Given the description of an element on the screen output the (x, y) to click on. 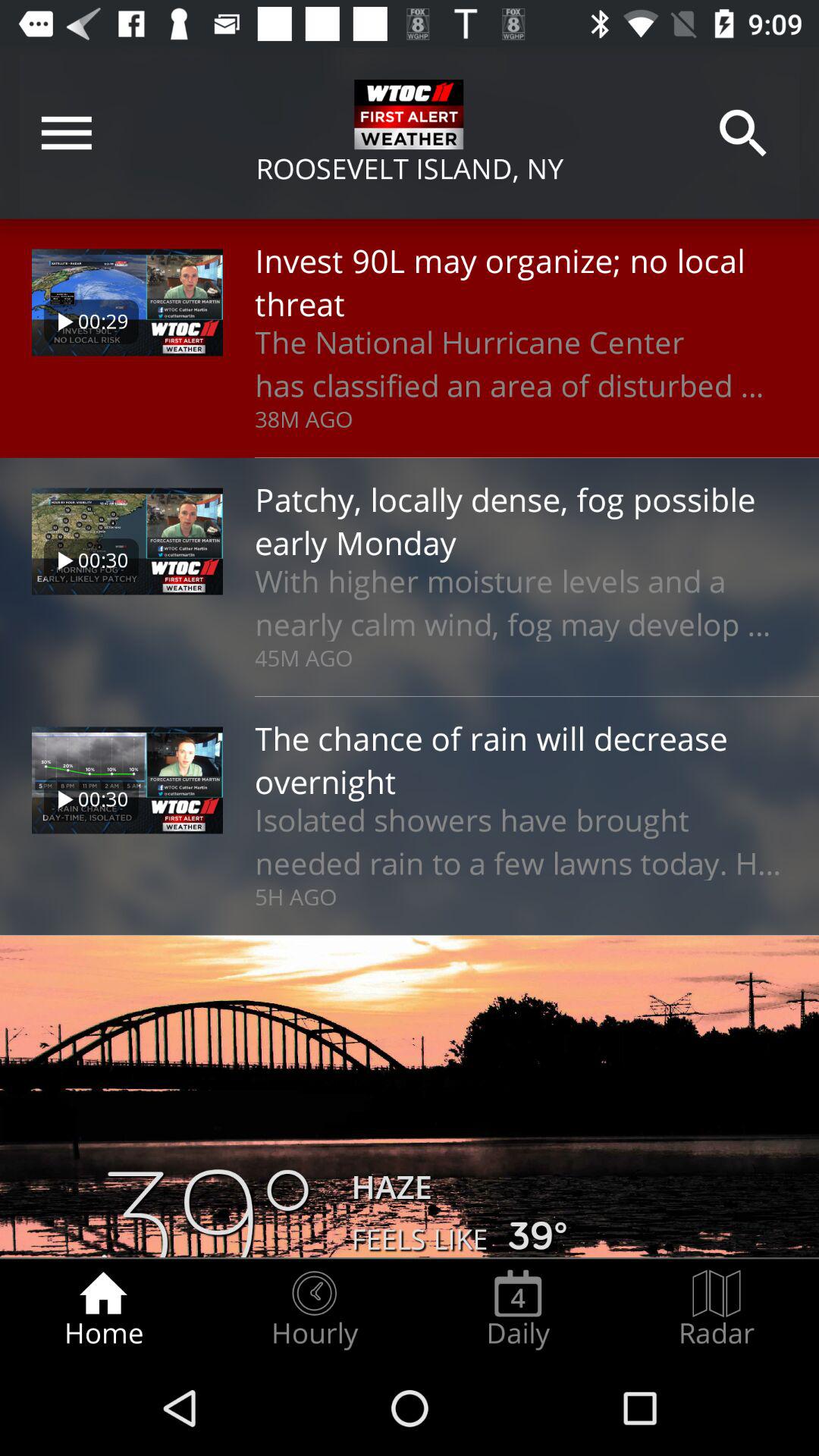
launch radio button next to hourly (518, 1309)
